Given the description of an element on the screen output the (x, y) to click on. 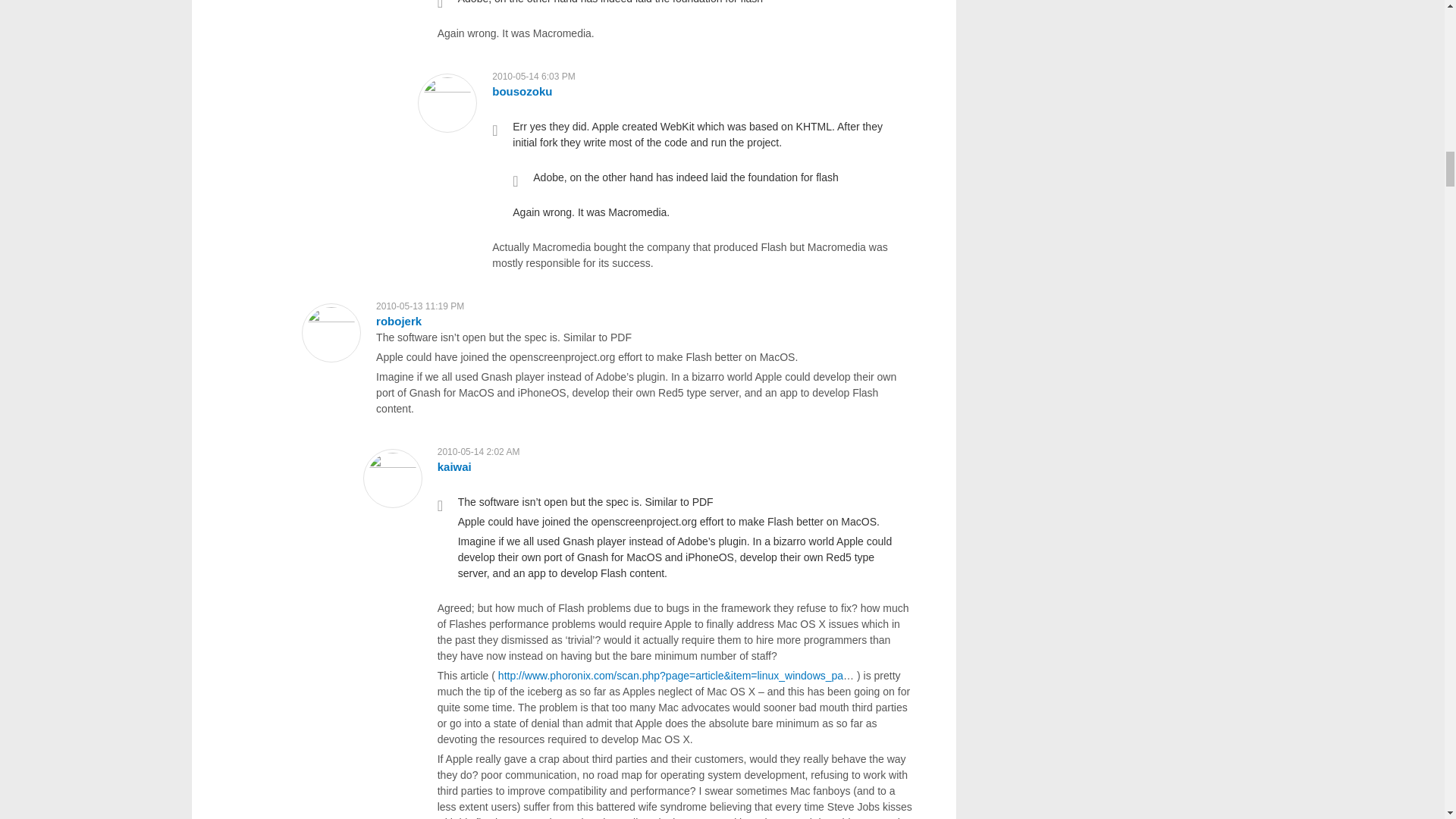
robojerk (398, 320)
kaiwai (454, 466)
bousozoku (521, 91)
